Given the description of an element on the screen output the (x, y) to click on. 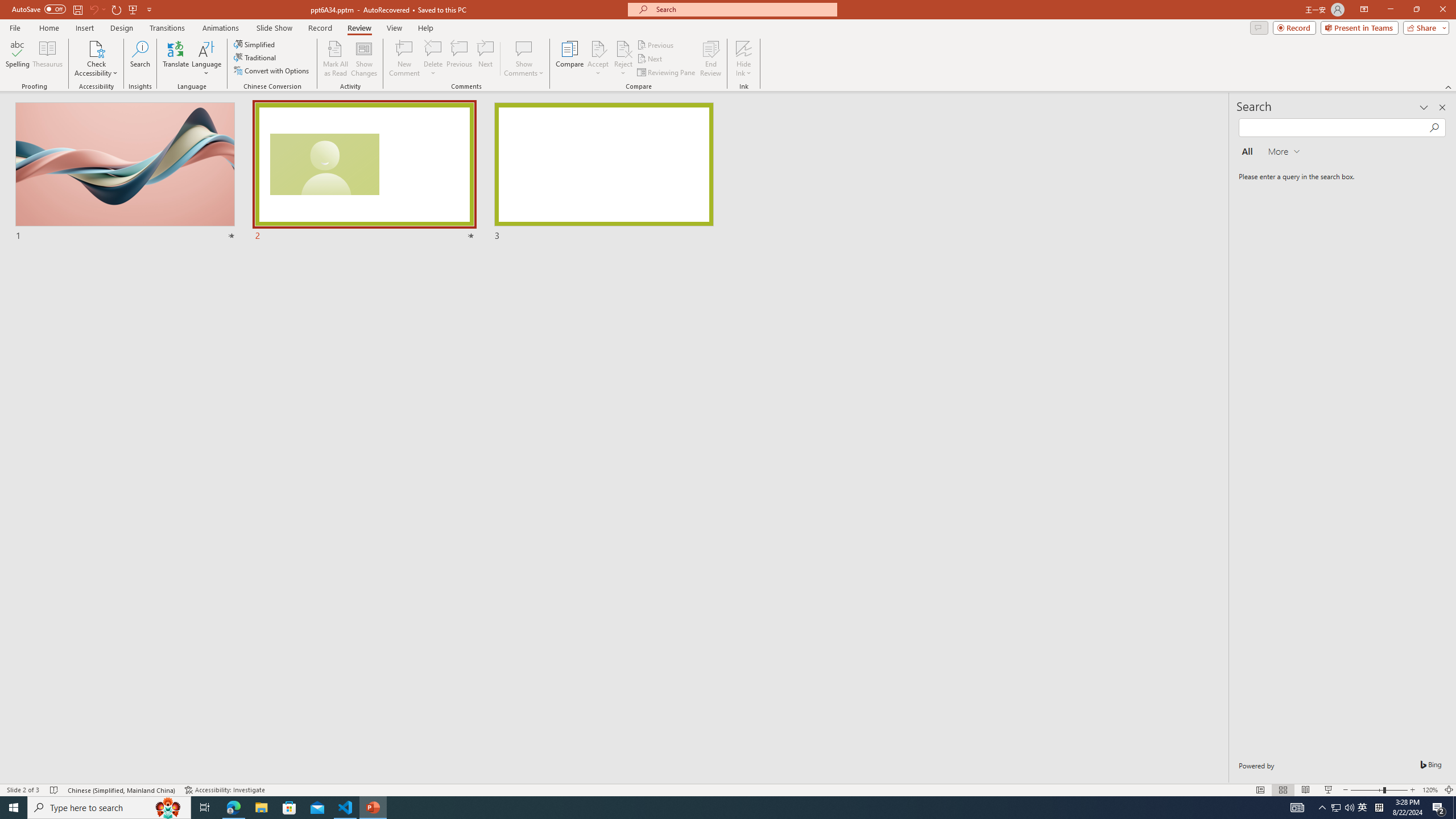
Zoom 120% (1430, 790)
Mark All as Read (335, 58)
